Given the description of an element on the screen output the (x, y) to click on. 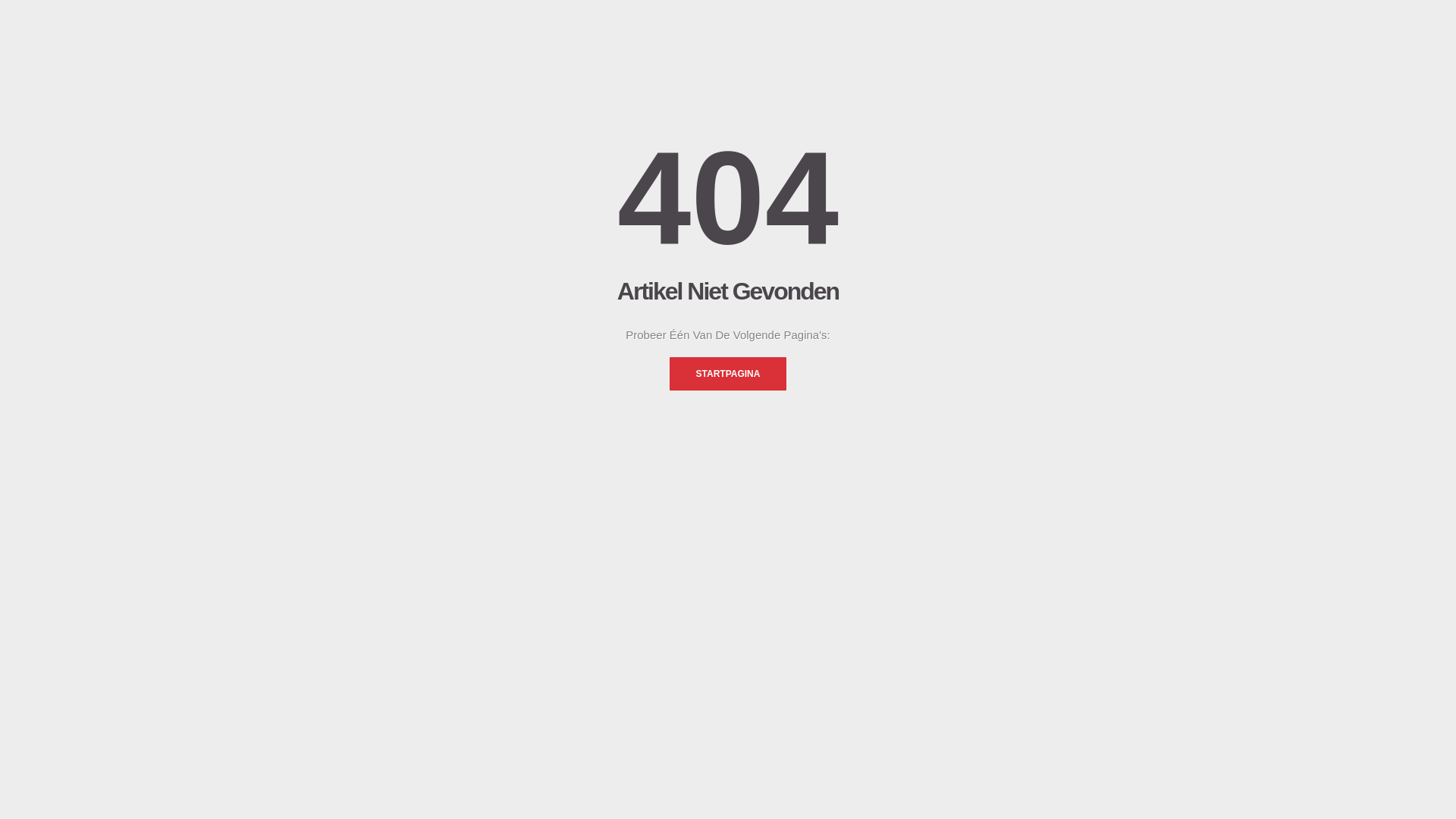
STARTPAGINA Element type: text (728, 373)
